Given the description of an element on the screen output the (x, y) to click on. 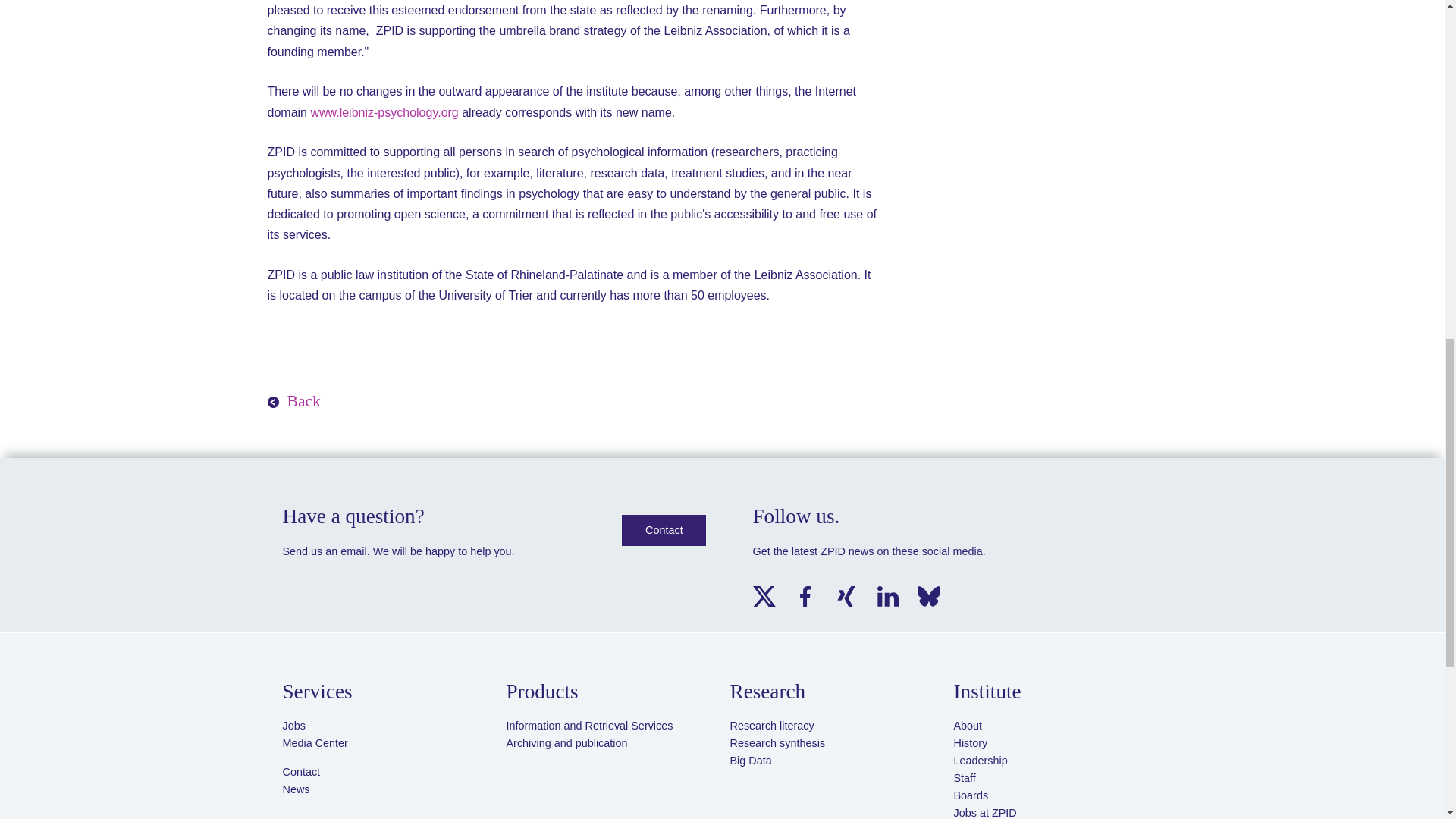
Back (293, 401)
www.leibniz-psychology.org (384, 112)
Contact (663, 530)
